Given the description of an element on the screen output the (x, y) to click on. 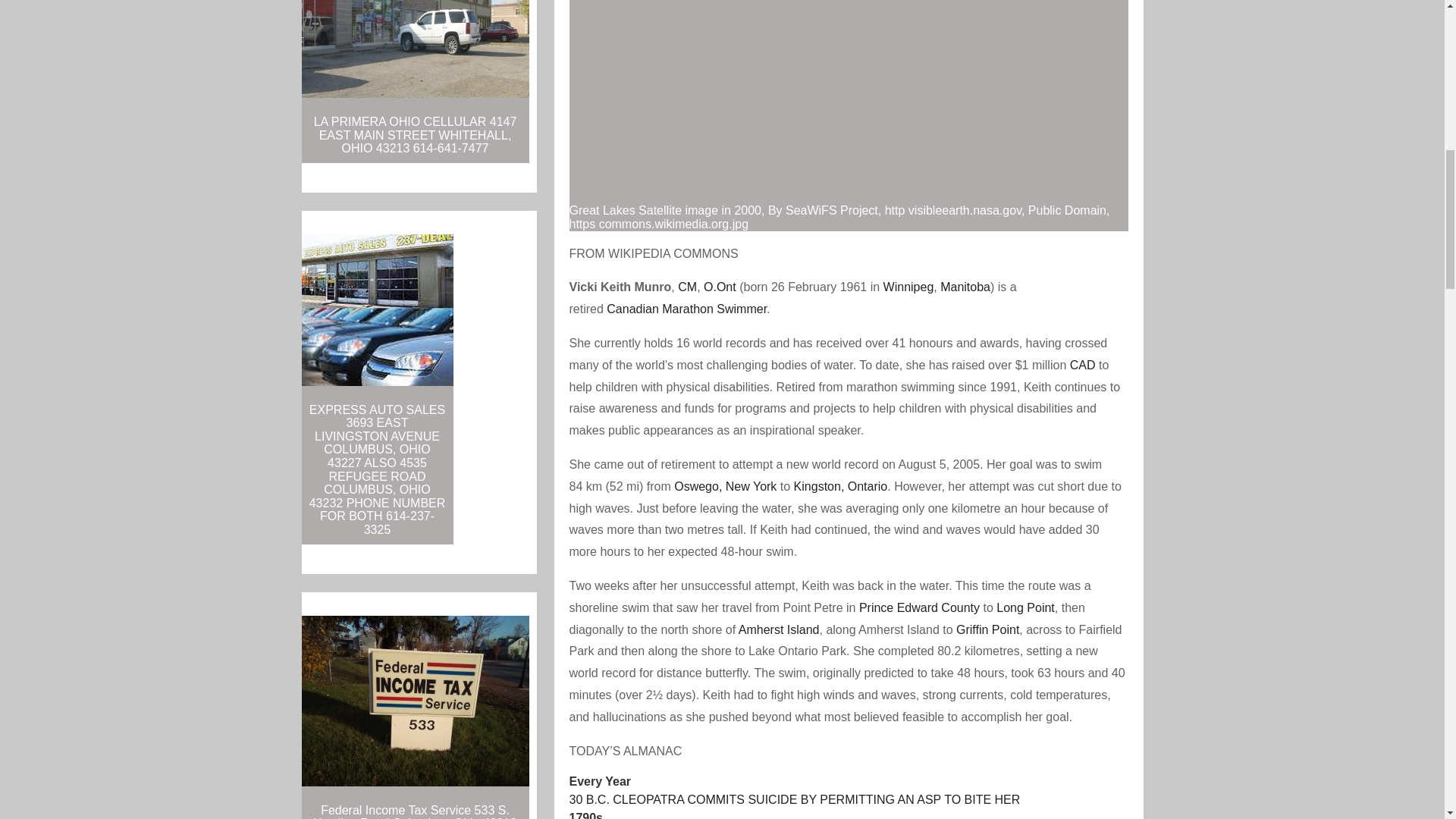
Prince Edward County (919, 607)
Manitoba (965, 286)
O.Ont (719, 286)
Winnipeg (908, 286)
CM (687, 286)
CAD (1083, 364)
Canadian (633, 308)
Oswego, New York (725, 486)
Griffin Point (987, 629)
Amherst Island (778, 629)
